Given the description of an element on the screen output the (x, y) to click on. 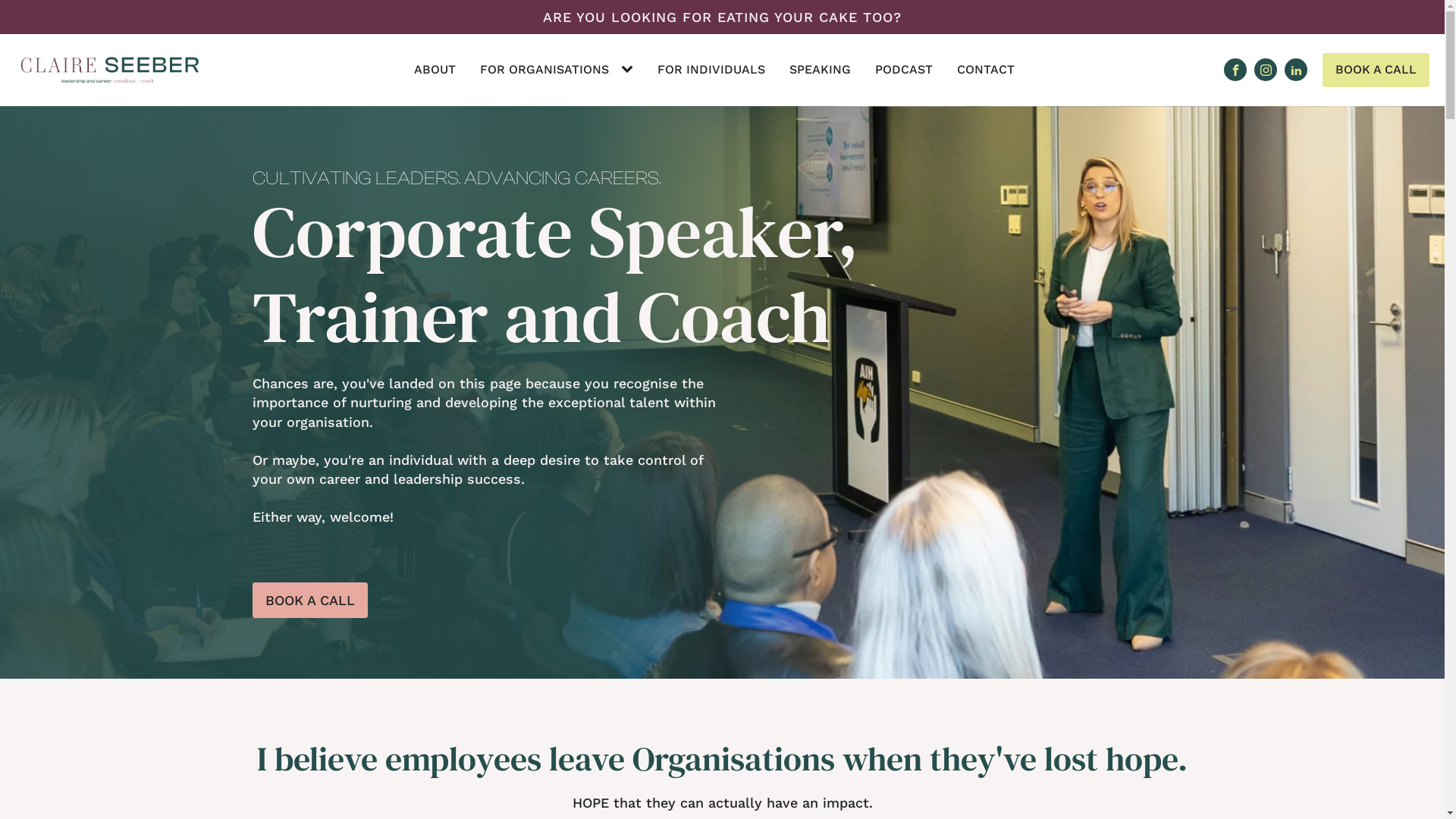
PODCAST Element type: text (903, 69)
BOOK A CALL Element type: text (309, 600)
BOOK A CALL Element type: text (1375, 69)
CONTACT Element type: text (985, 69)
ARE YOU LOOKING FOR EATING YOUR CAKE TOO? Element type: text (722, 17)
ABOUT Element type: text (434, 69)
SPEAKING Element type: text (819, 69)
FOR ORGANISATIONS Element type: text (544, 69)
FOR INDIVIDUALS Element type: text (711, 69)
